Given the description of an element on the screen output the (x, y) to click on. 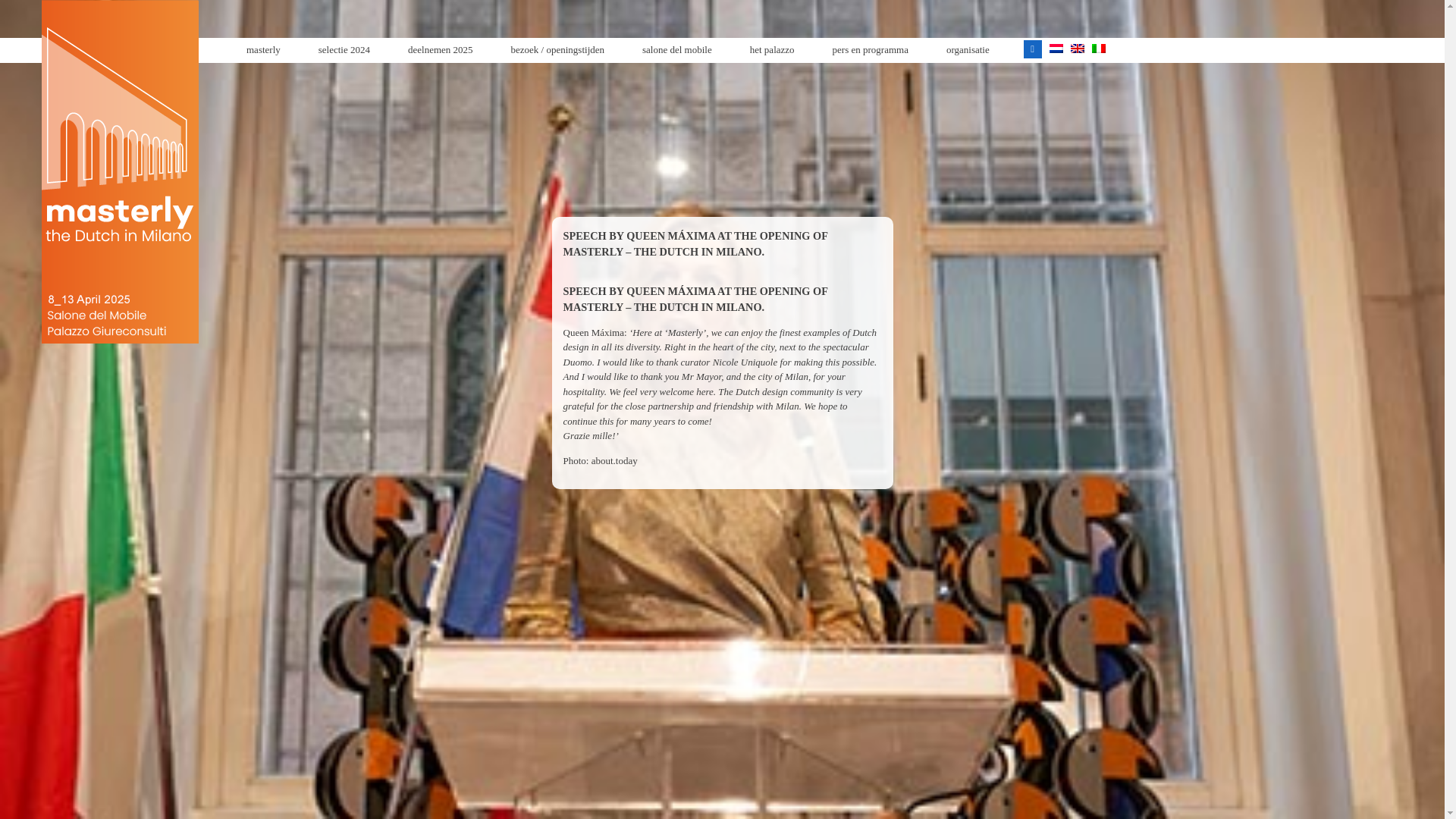
organisatie (967, 50)
het palazzo (771, 50)
deelnemen 2025 (440, 50)
pers en programma (870, 50)
facebook (1032, 49)
masterly (263, 50)
salone del mobile (677, 50)
selectie 2024 (344, 50)
